Given the description of an element on the screen output the (x, y) to click on. 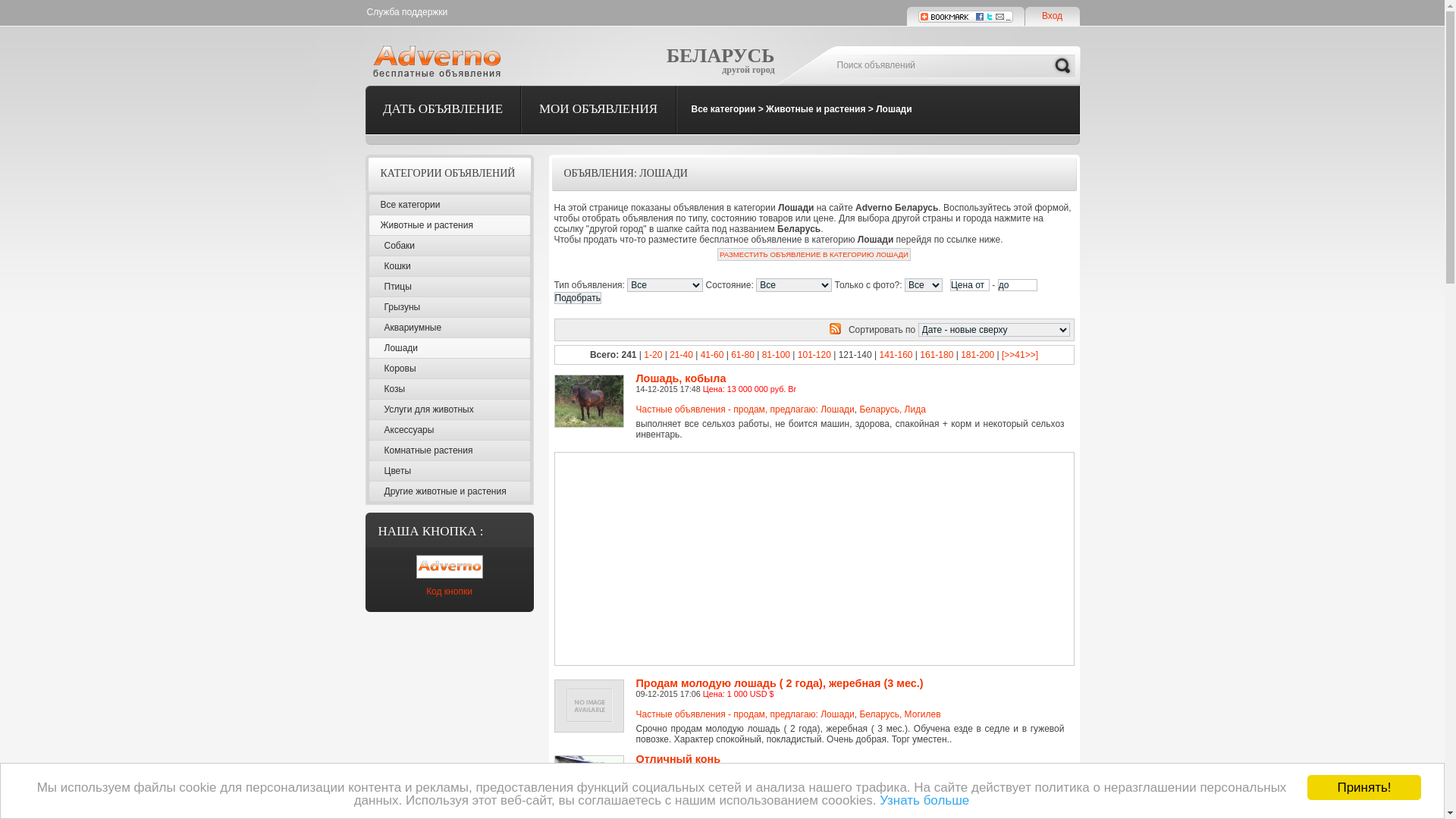
21-40 Element type: text (681, 354)
61-80 Element type: text (742, 354)
181-200 Element type: text (977, 354)
1-20 Element type: text (652, 354)
[>>41>>] Element type: text (1019, 354)
Search Element type: text (1062, 65)
141-160 Element type: text (895, 354)
101-120 Element type: text (814, 354)
41-60 Element type: text (712, 354)
161-180 Element type: text (936, 354)
81-100 Element type: text (776, 354)
Advertisement Element type: hover (760, 558)
